Given the description of an element on the screen output the (x, y) to click on. 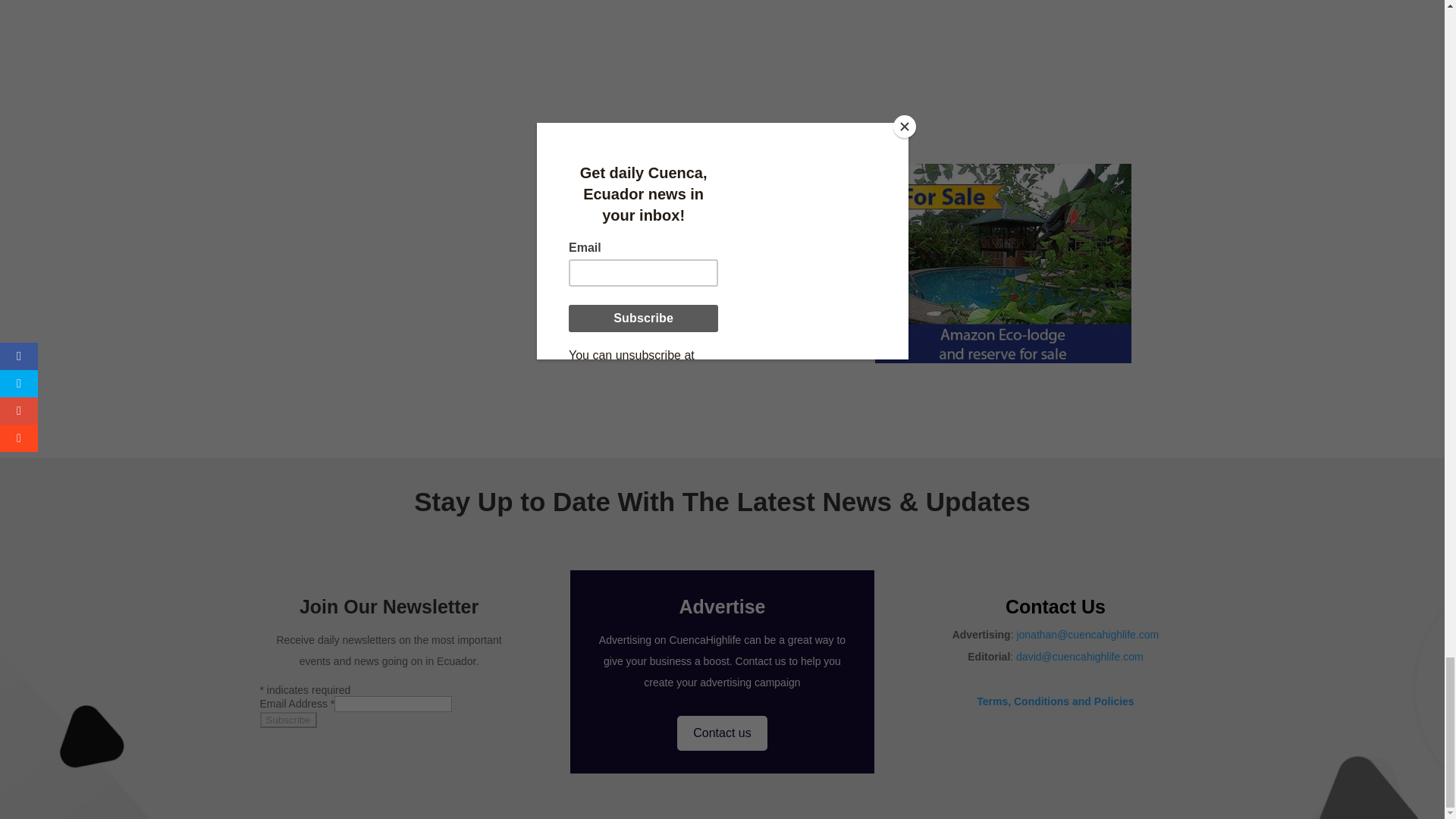
Subscribe (287, 719)
